Given the description of an element on the screen output the (x, y) to click on. 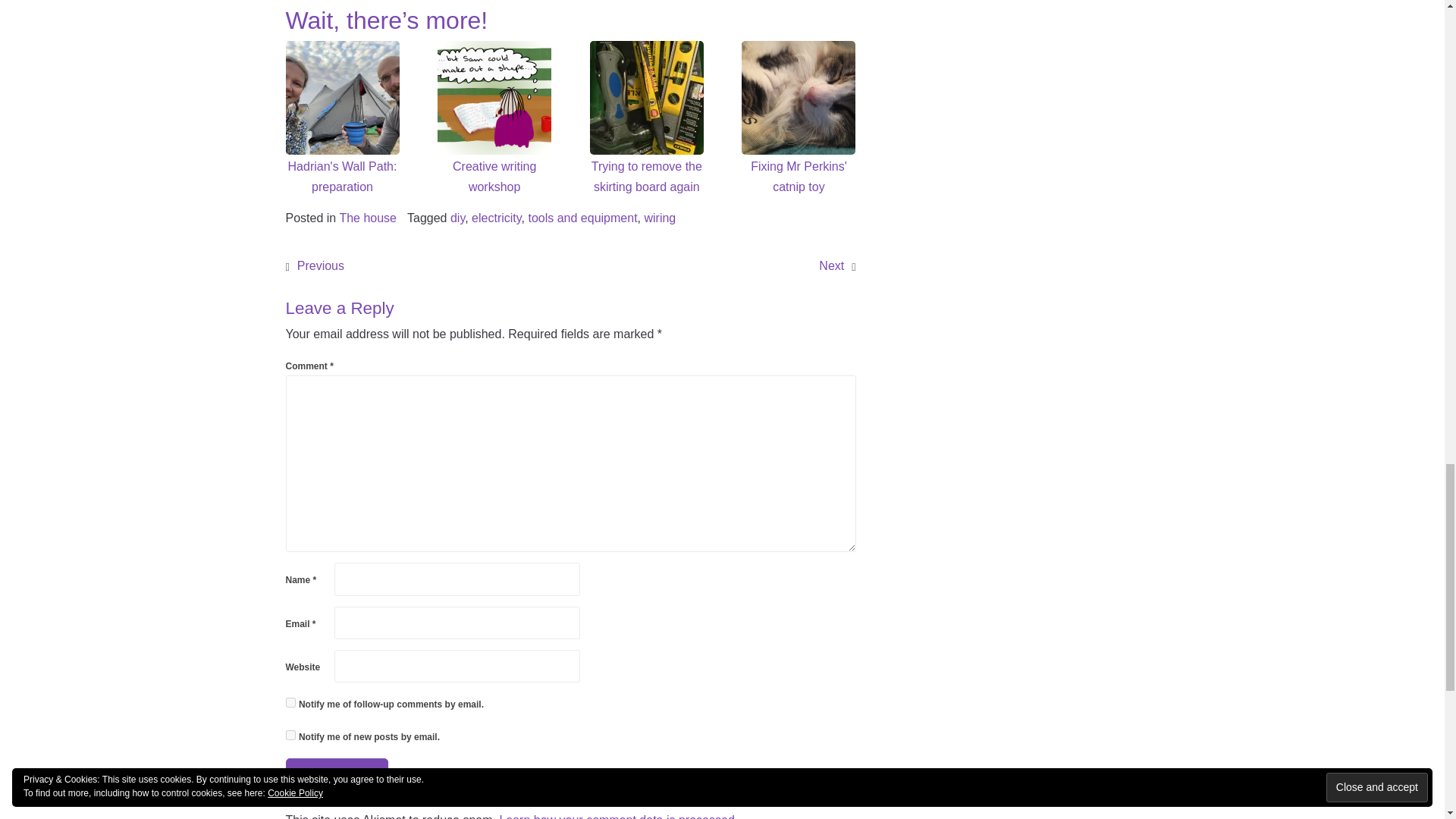
Previous (320, 265)
wiring (659, 217)
Fixing Mr Perkins' catnip toy (798, 97)
subscribe (290, 735)
Creative writing workshop (494, 97)
Post Comment (336, 774)
diy (456, 217)
tools and equipment (582, 217)
electricity (496, 217)
Hadrian's Wall Path: preparation (341, 97)
